Given the description of an element on the screen output the (x, y) to click on. 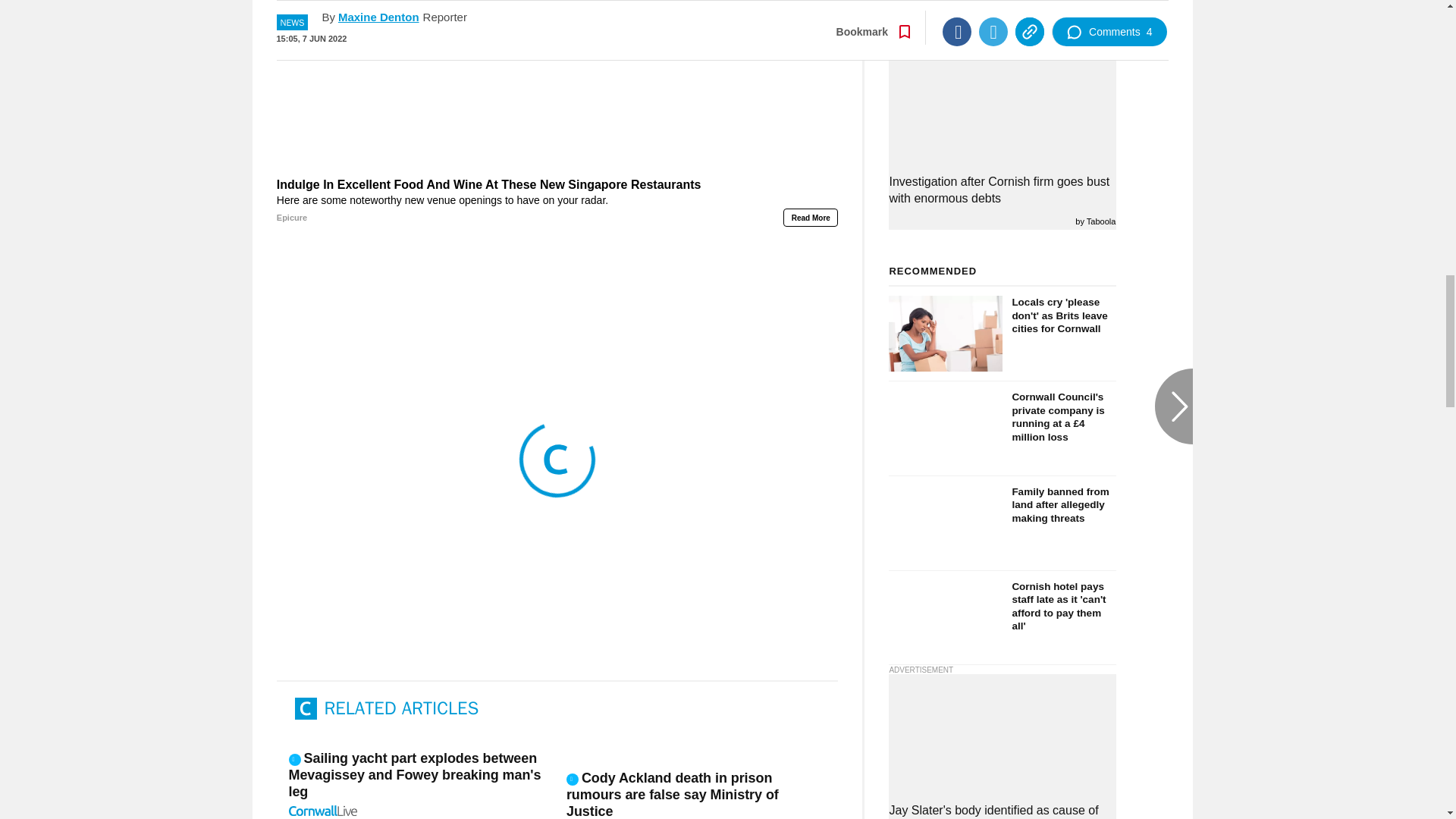
Jay Slater's body identified as cause of death is determined (1002, 810)
